Given the description of an element on the screen output the (x, y) to click on. 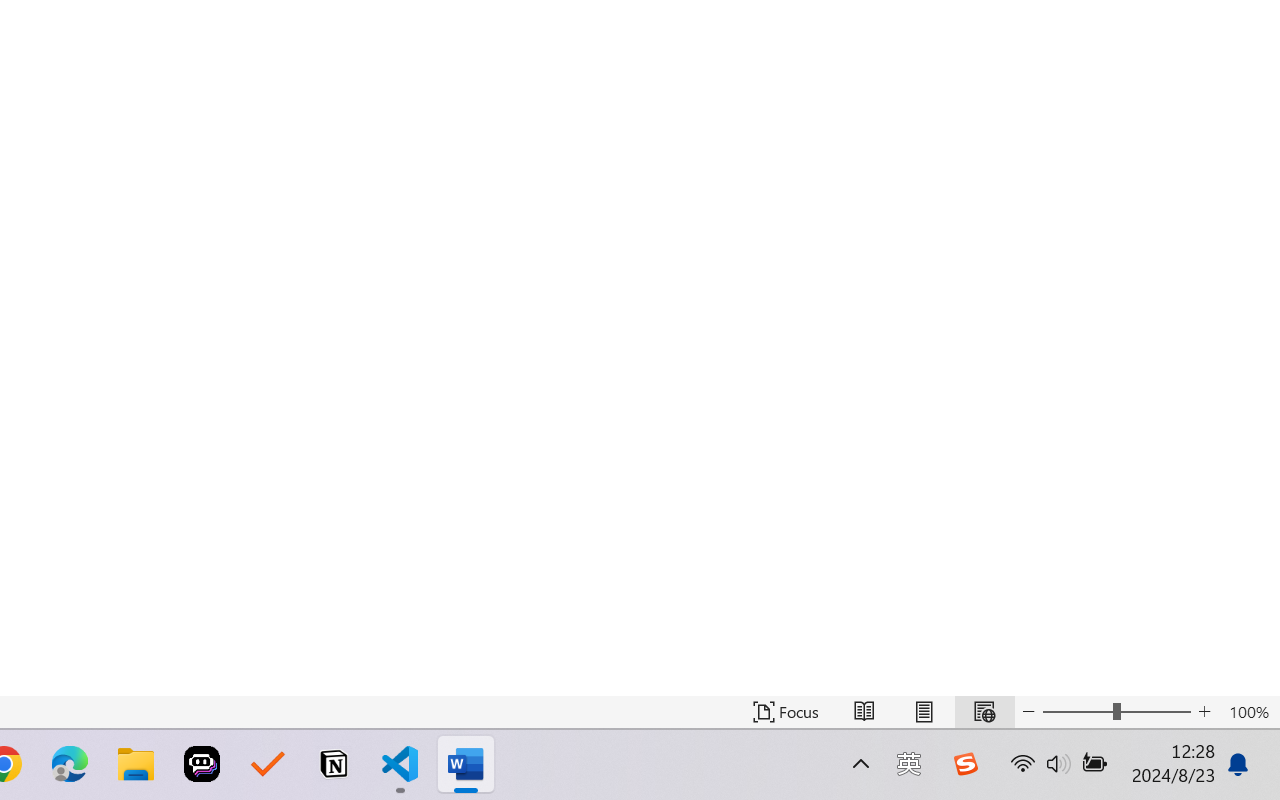
Zoom 100% (1249, 712)
